Given the description of an element on the screen output the (x, y) to click on. 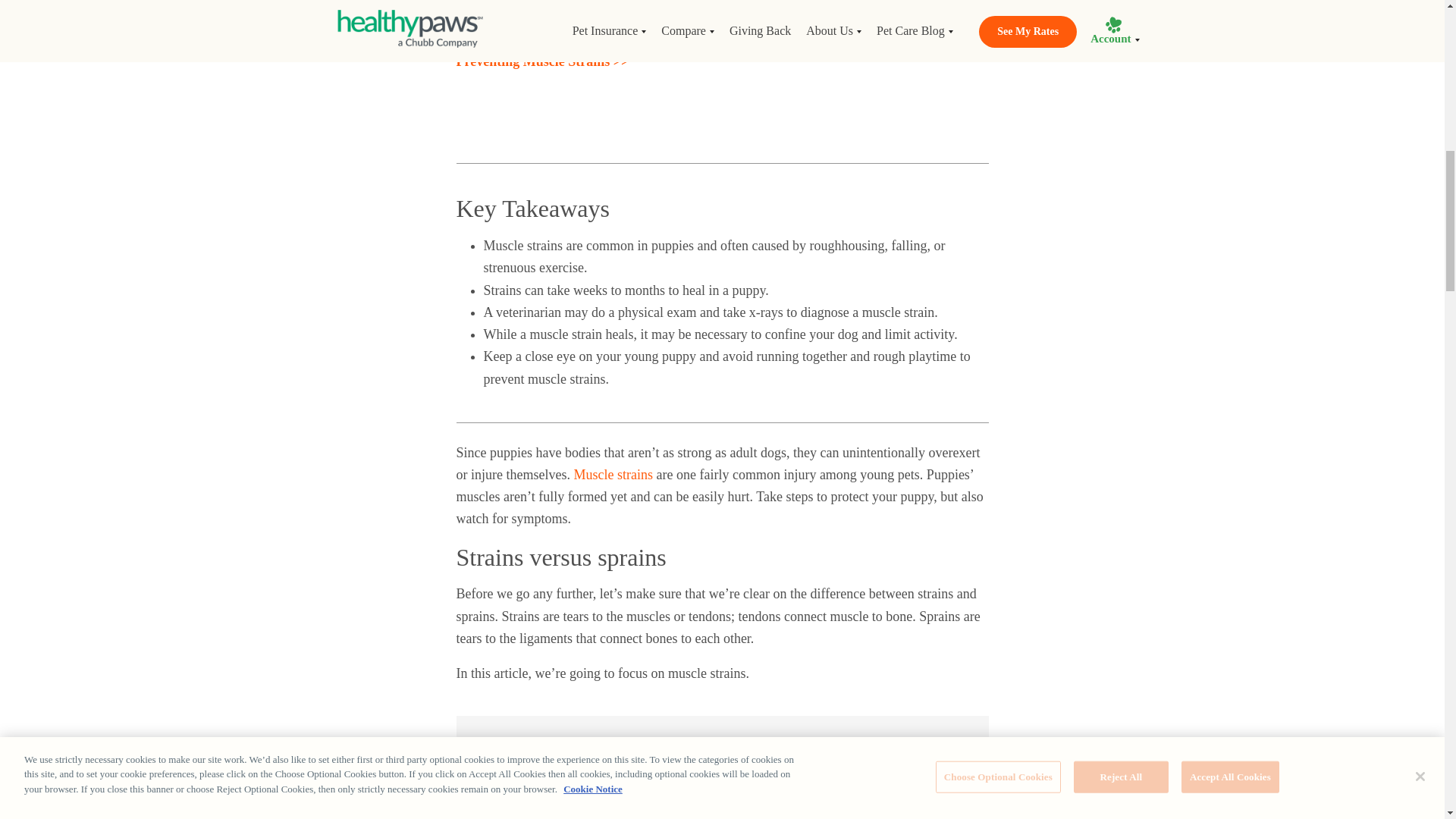
Preventing Muscle Strains (542, 61)
Muscle strain treatment (536, 6)
Recovering from a strain (539, 32)
